Given the description of an element on the screen output the (x, y) to click on. 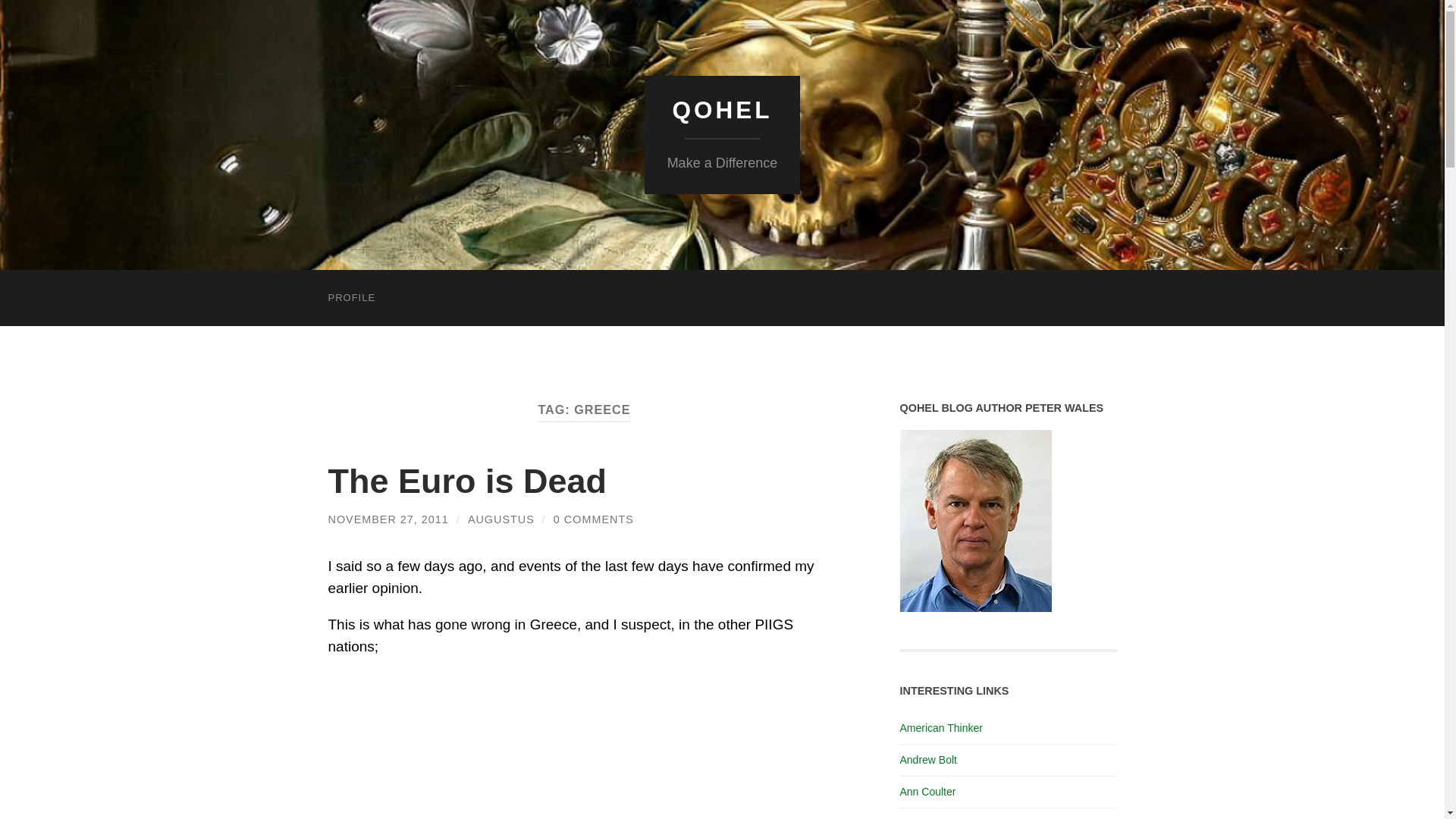
0 COMMENTS (593, 519)
American Thinker (940, 727)
PROFILE (351, 297)
Arts and Letters Daily (950, 818)
NOVEMBER 27, 2011 (387, 519)
The Euro is Dead (467, 480)
AUGUSTUS (500, 519)
Posts by Augustus (500, 519)
Ann Coulter (927, 791)
Andrew Bolt (927, 759)
QOHEL (721, 109)
